Given the description of an element on the screen output the (x, y) to click on. 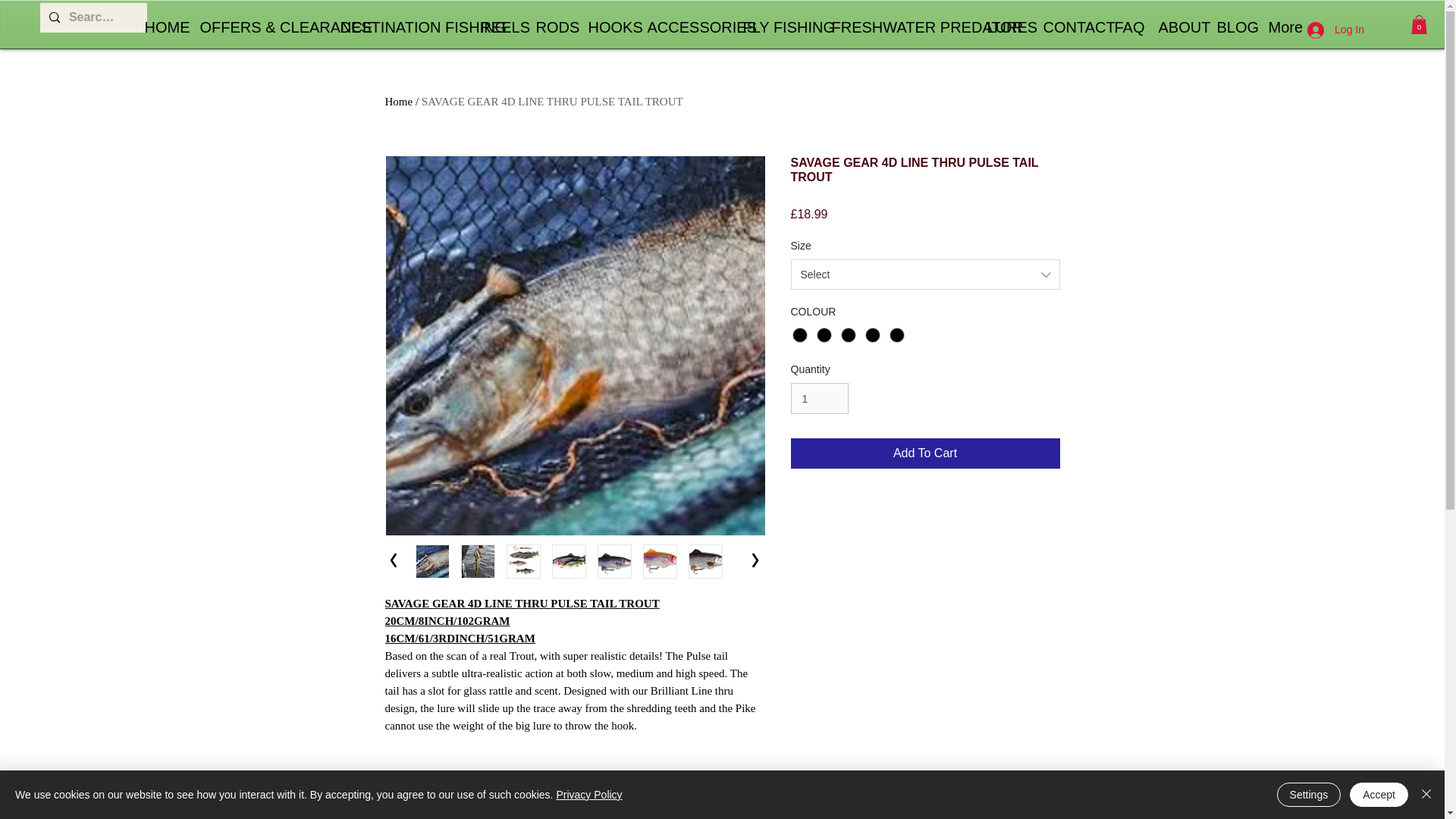
ACCESSORIES (682, 27)
RODS (550, 27)
DESTINATION FISHING (398, 27)
HOOKS (605, 27)
HOME (161, 27)
LURES (1002, 27)
FLY FISHING (774, 27)
FRESHWATER PREDATOR (898, 27)
1 (818, 398)
REELS (496, 27)
